Given the description of an element on the screen output the (x, y) to click on. 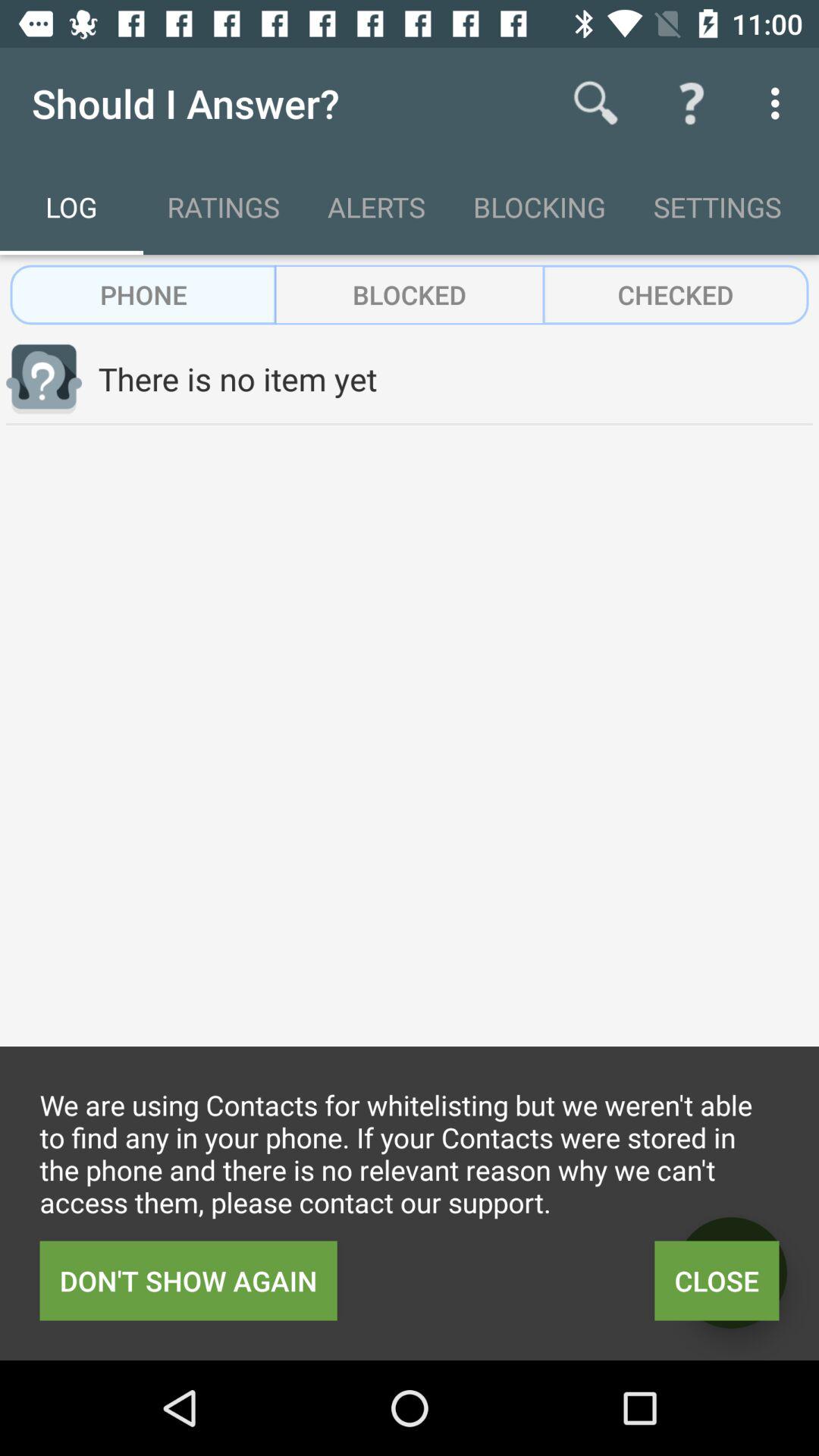
click item to the right of don t show icon (716, 1280)
